Given the description of an element on the screen output the (x, y) to click on. 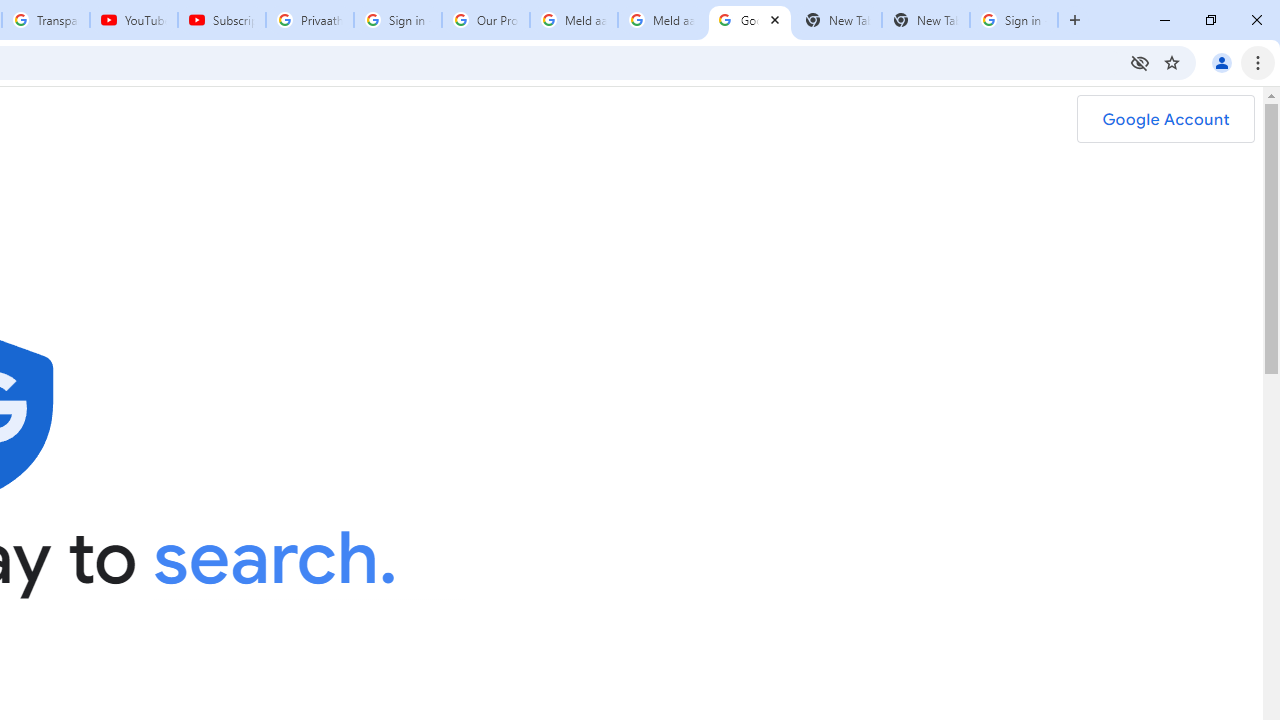
Google Account (1165, 119)
YouTube (133, 20)
Google Safety Center - Stay Safer Online (749, 20)
